Given the description of an element on the screen output the (x, y) to click on. 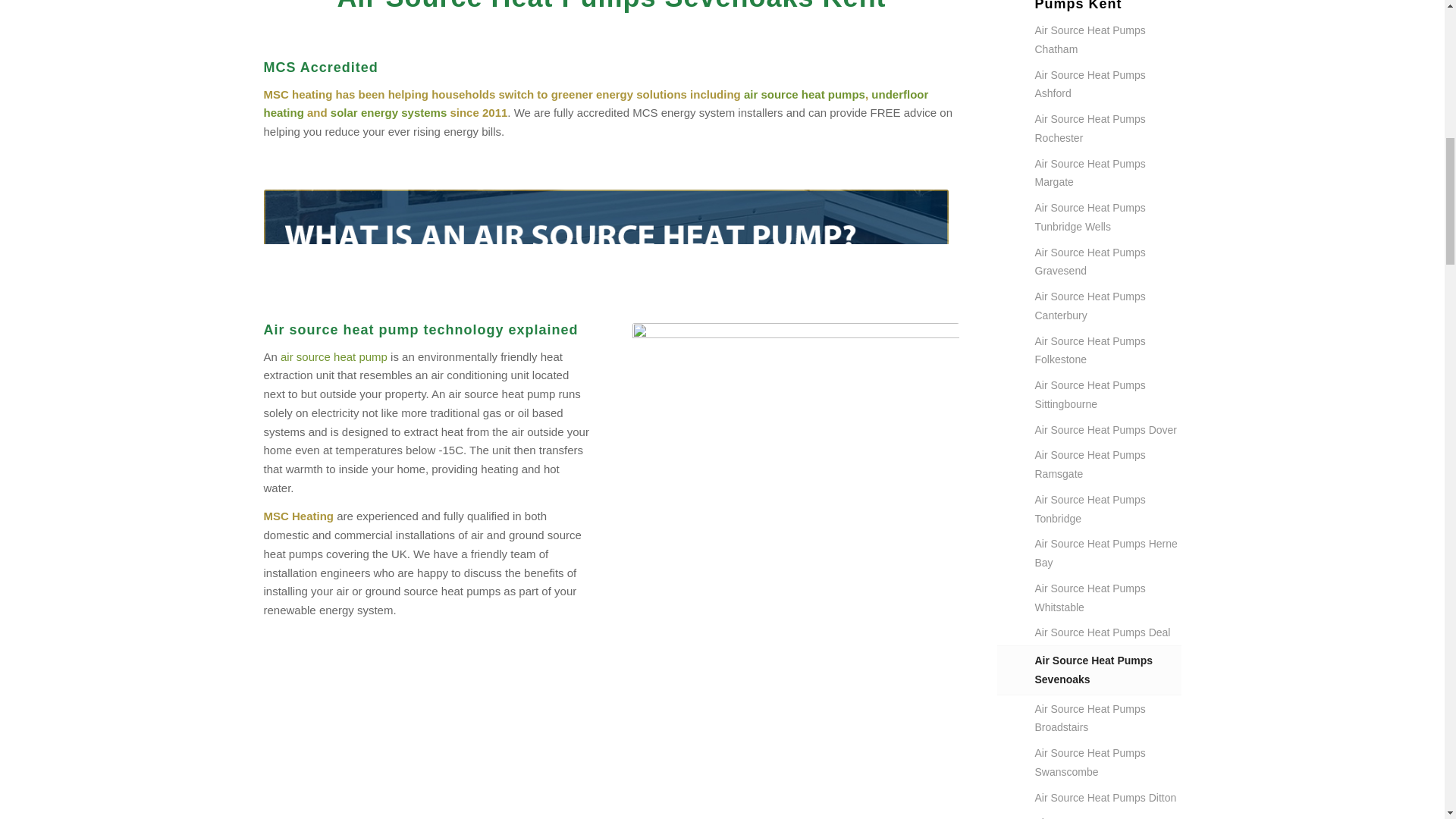
Air Source Heat Pumps Ashford (1106, 85)
Air Source Heat Pumps Gravesend (1106, 262)
Air Source Heat Pumps Margate (1106, 173)
air-source-heat-pump-works (606, 735)
whatisaheatpumpheading (606, 237)
Air Source Heat Pumps Sittingbourne (1106, 395)
solar energy systems (388, 112)
Solar PV (388, 112)
Air Source Heat Pumps Deal (1106, 632)
underfloor heating (595, 103)
Air Source Heat Pumps Herne Bay (1106, 553)
Air Source Heat Pumps Sevenoaks (1106, 670)
Air Source Heat Pumps Canterbury (1106, 306)
Air Source Heat Pumps Tonbridge (1106, 509)
air-source-heat-pumps-body-right (795, 486)
